Given the description of an element on the screen output the (x, y) to click on. 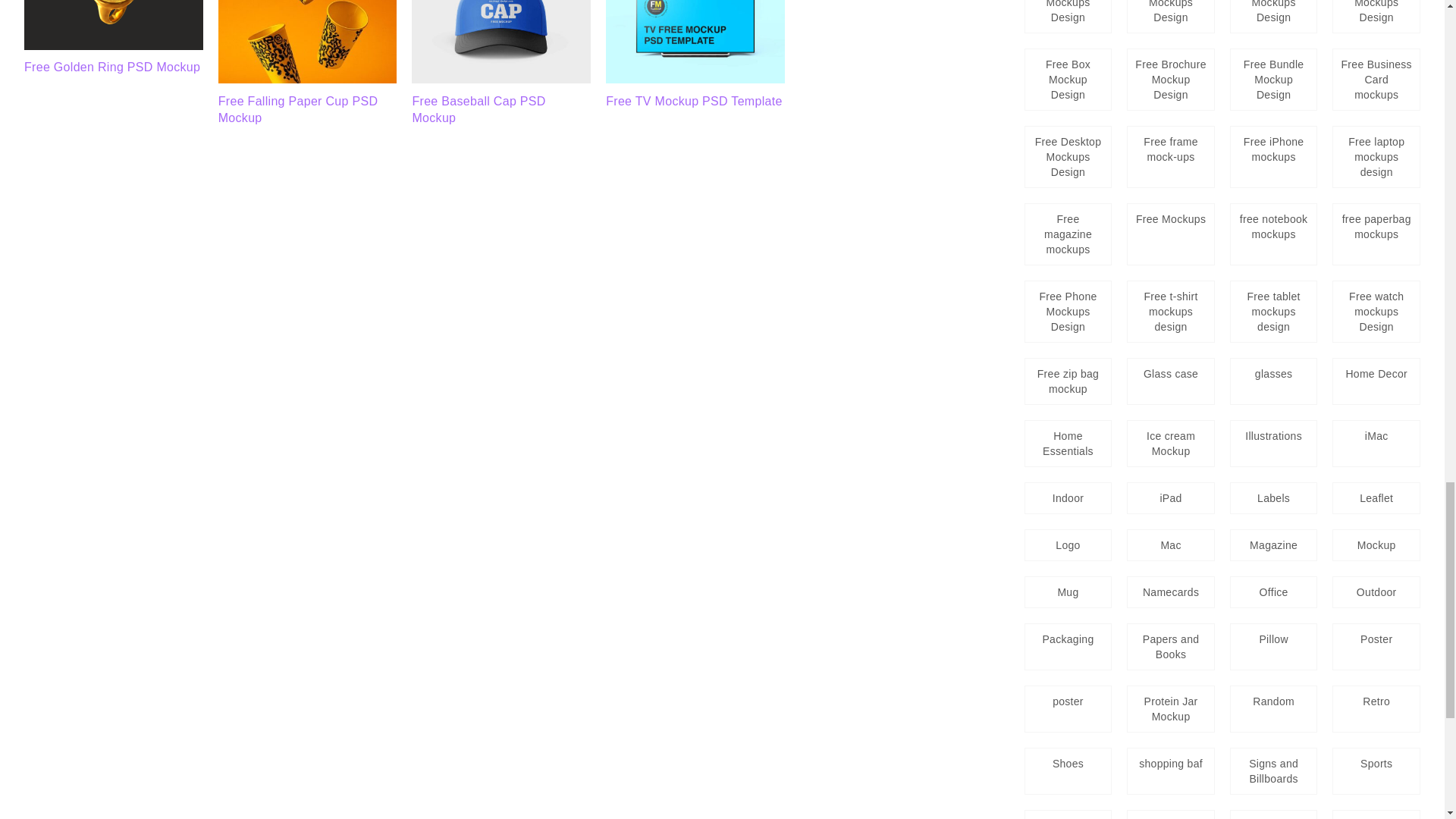
Free Baseball Cap PSD Mockup (501, 78)
Free Falling Paper Cup PSD Mockup (307, 78)
Free Golden Ring PSD Mockup (112, 66)
Free Golden Ring PSD Mockup (113, 24)
Free Falling Paper Cup PSD Mockup (307, 41)
Free Falling Paper Cup PSD Mockup (298, 108)
Free Golden Ring PSD Mockup (113, 45)
